Given the description of an element on the screen output the (x, y) to click on. 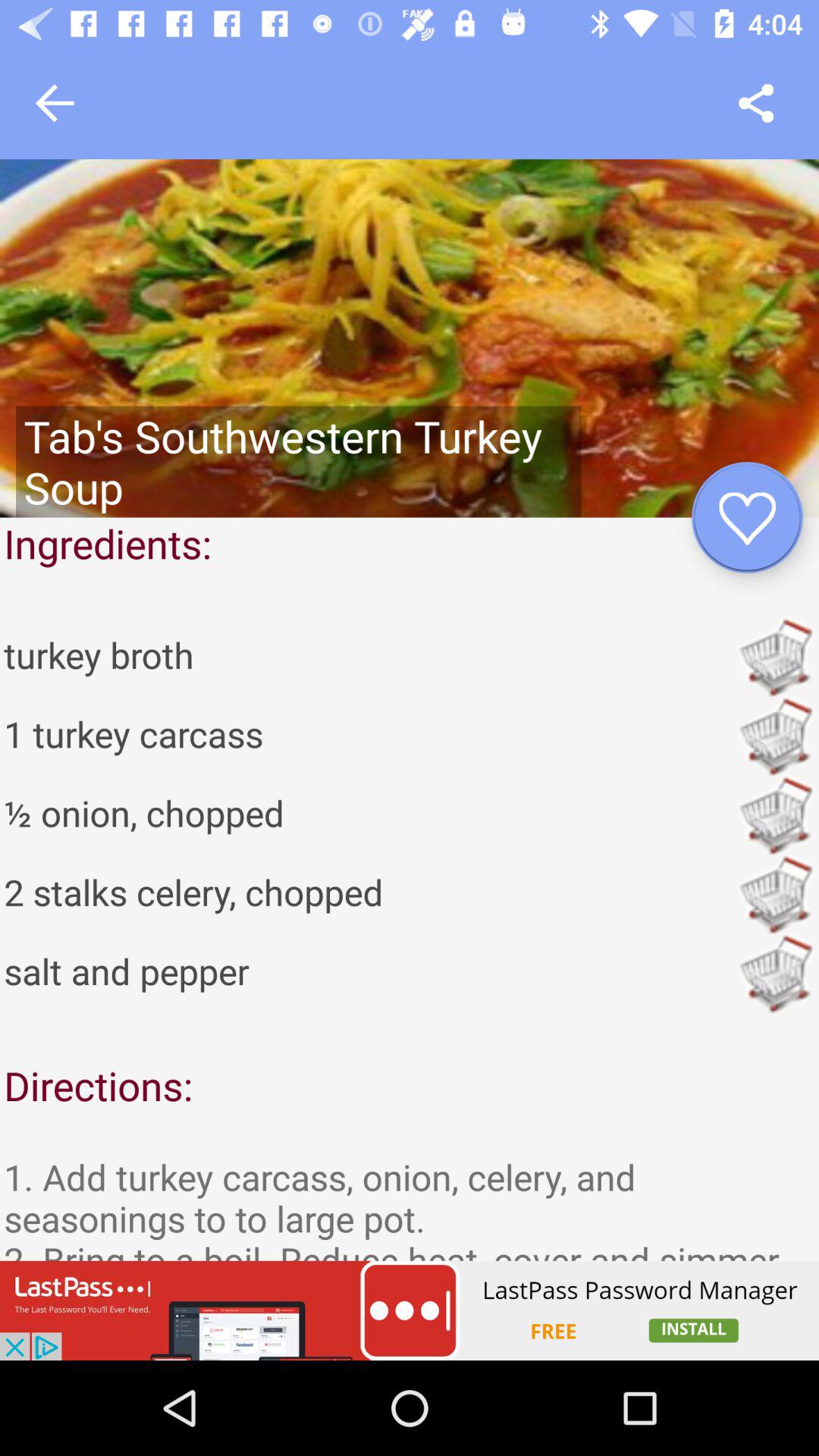
share link (756, 103)
